Given the description of an element on the screen output the (x, y) to click on. 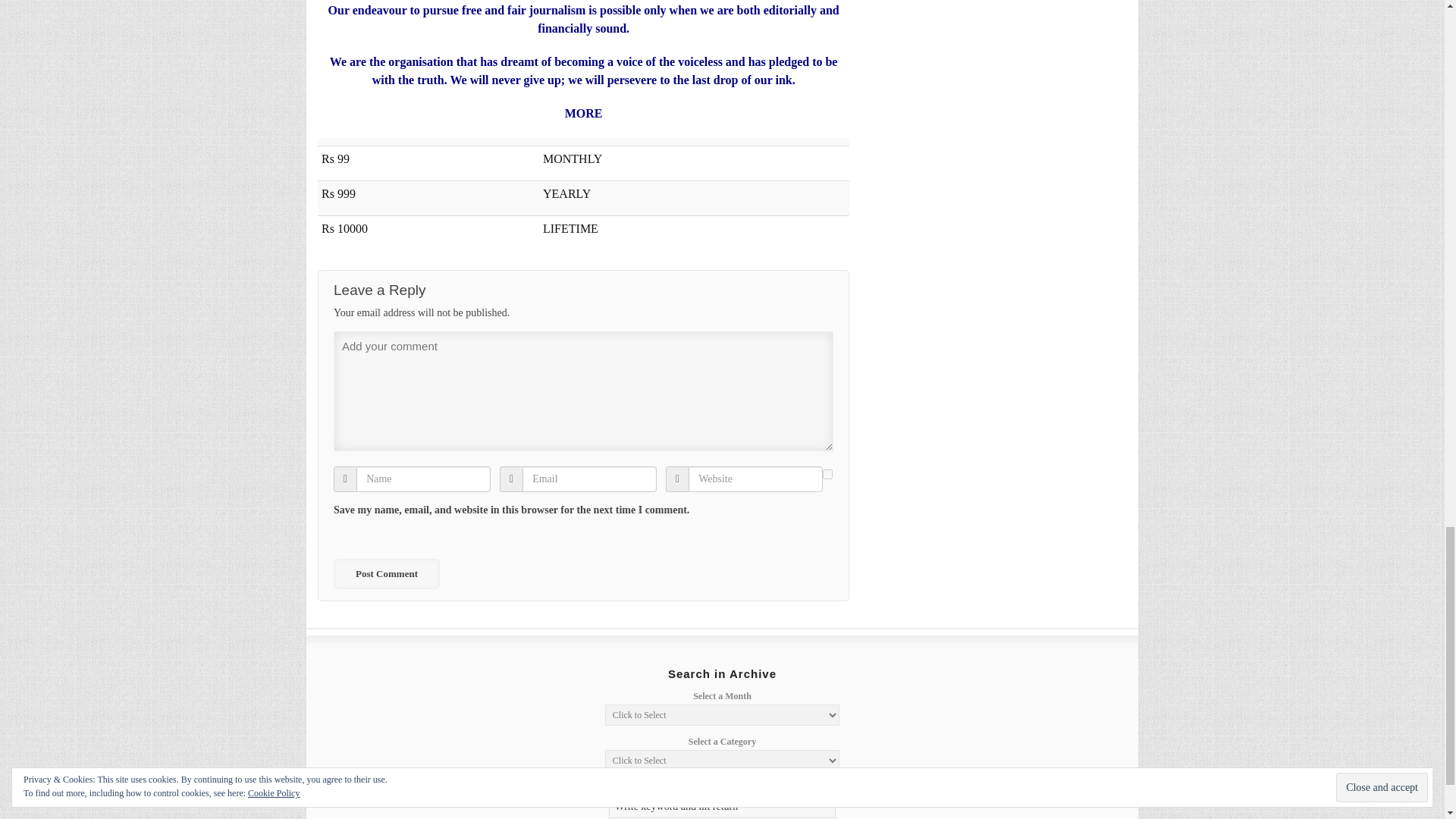
Post Comment (386, 573)
Write keyword and hit return (721, 806)
yes (827, 474)
